Given the description of an element on the screen output the (x, y) to click on. 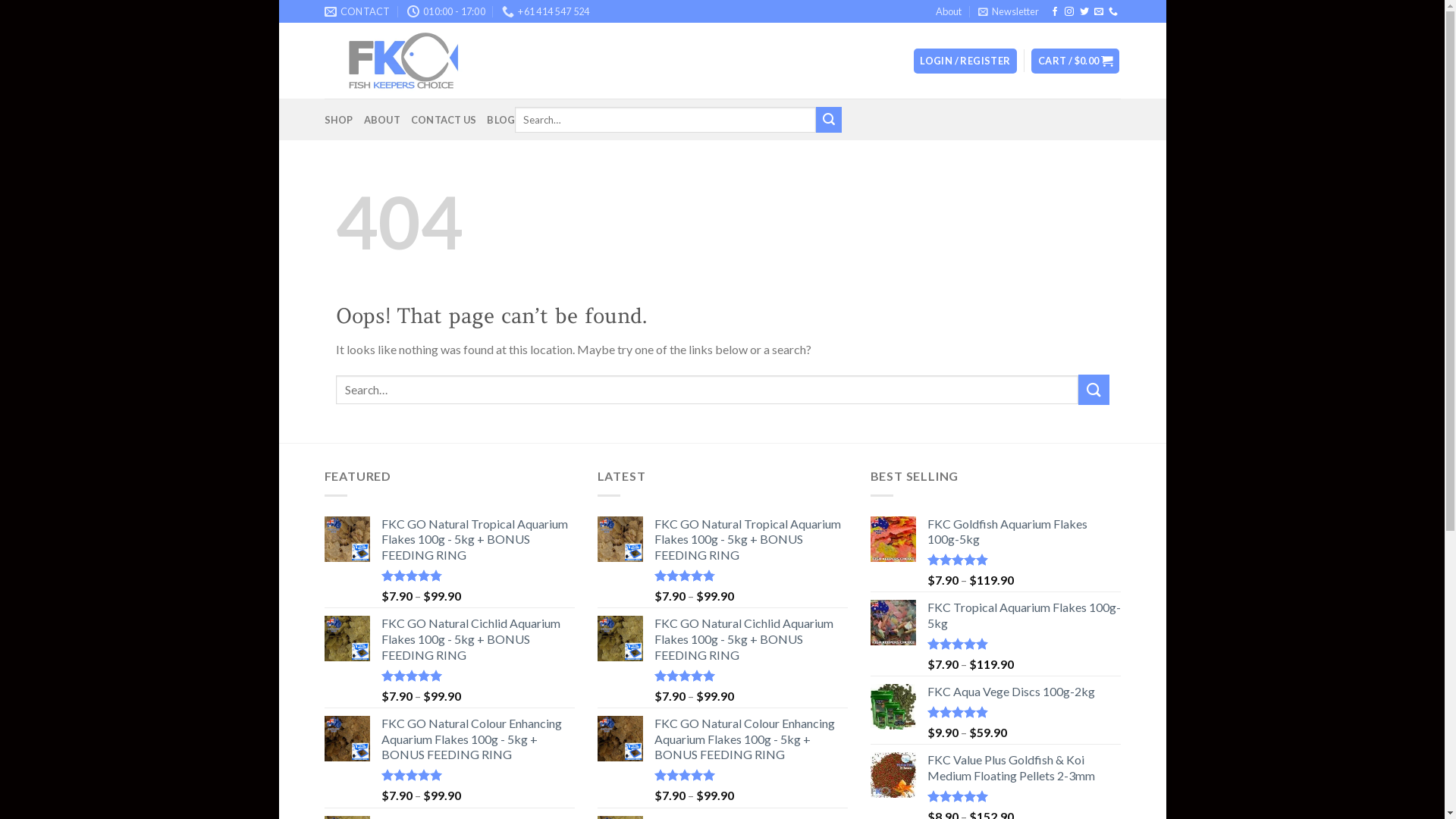
CART / $0.00 Element type: text (1075, 60)
CONTACT Element type: text (357, 11)
FKC Tropical Aquarium Flakes 100g-5kg Element type: text (1023, 615)
FKC Aqua Vege Discs 100g-2kg Element type: text (1023, 691)
Search Element type: text (828, 119)
Follow on Twitter Element type: hover (1083, 11)
About Element type: text (948, 11)
Send us an email Element type: hover (1098, 11)
FKC Goldfish Aquarium Flakes 100g-5kg Element type: text (1023, 532)
BLOG Element type: text (500, 119)
CONTACT US Element type: text (443, 119)
Follow on Facebook Element type: hover (1054, 11)
LOGIN / REGISTER Element type: text (965, 60)
Newsletter Element type: text (1008, 11)
Call us Element type: hover (1112, 11)
+61 414 547 524 Element type: text (545, 11)
ABOUT Element type: text (382, 119)
Follow on Instagram Element type: hover (1068, 11)
SHOP Element type: text (338, 119)
FKC Value Plus Goldfish & Koi Medium Floating Pellets 2-3mm Element type: text (1023, 768)
Fish Keepers Choice - Aquarium Fish Food Element type: hover (400, 60)
010:00 - 17:00 Element type: text (446, 11)
